Given the description of an element on the screen output the (x, y) to click on. 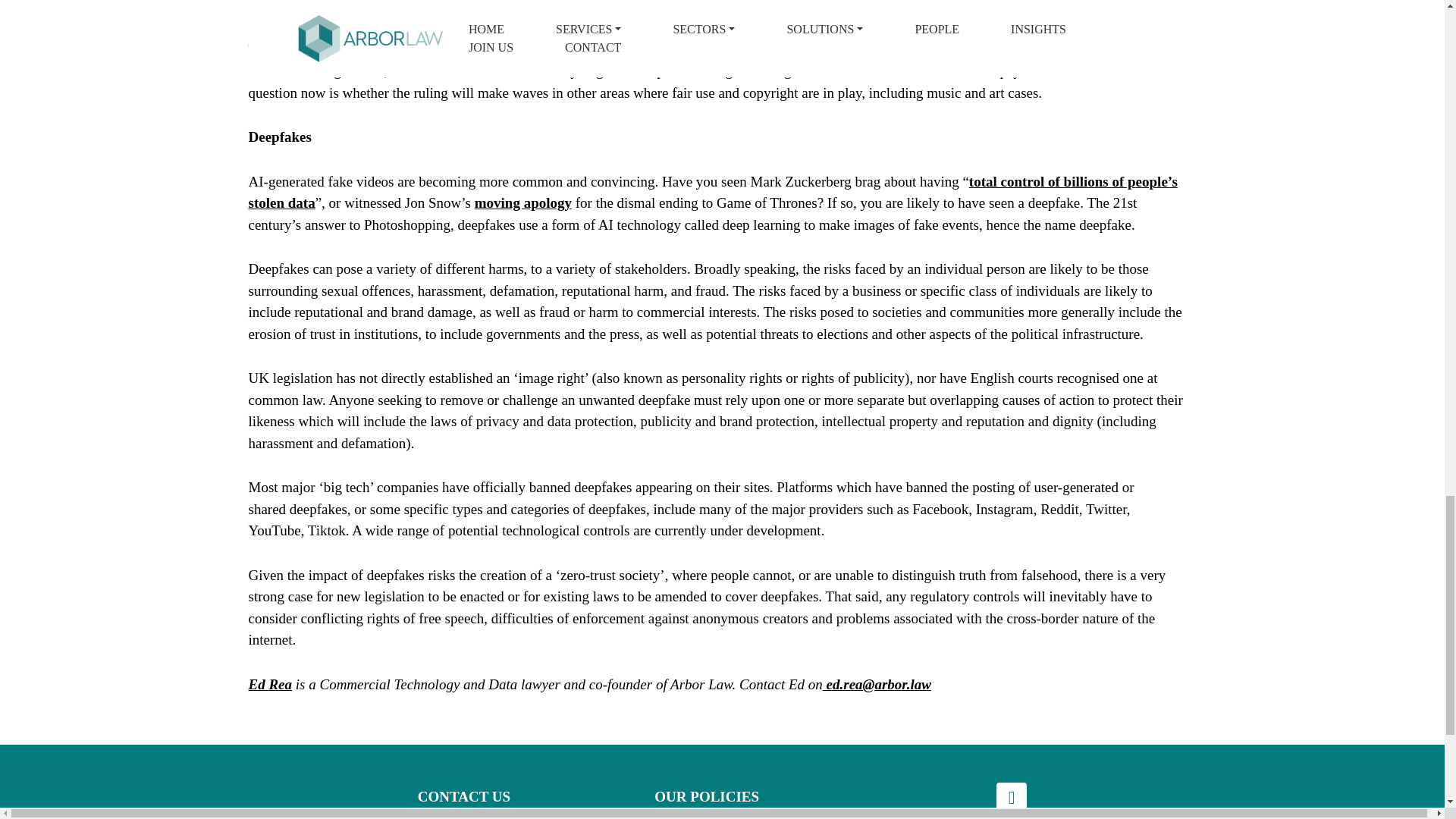
moving apology (523, 204)
Legal and Regulatory Notice (737, 816)
Ed Rea (270, 685)
